Given the description of an element on the screen output the (x, y) to click on. 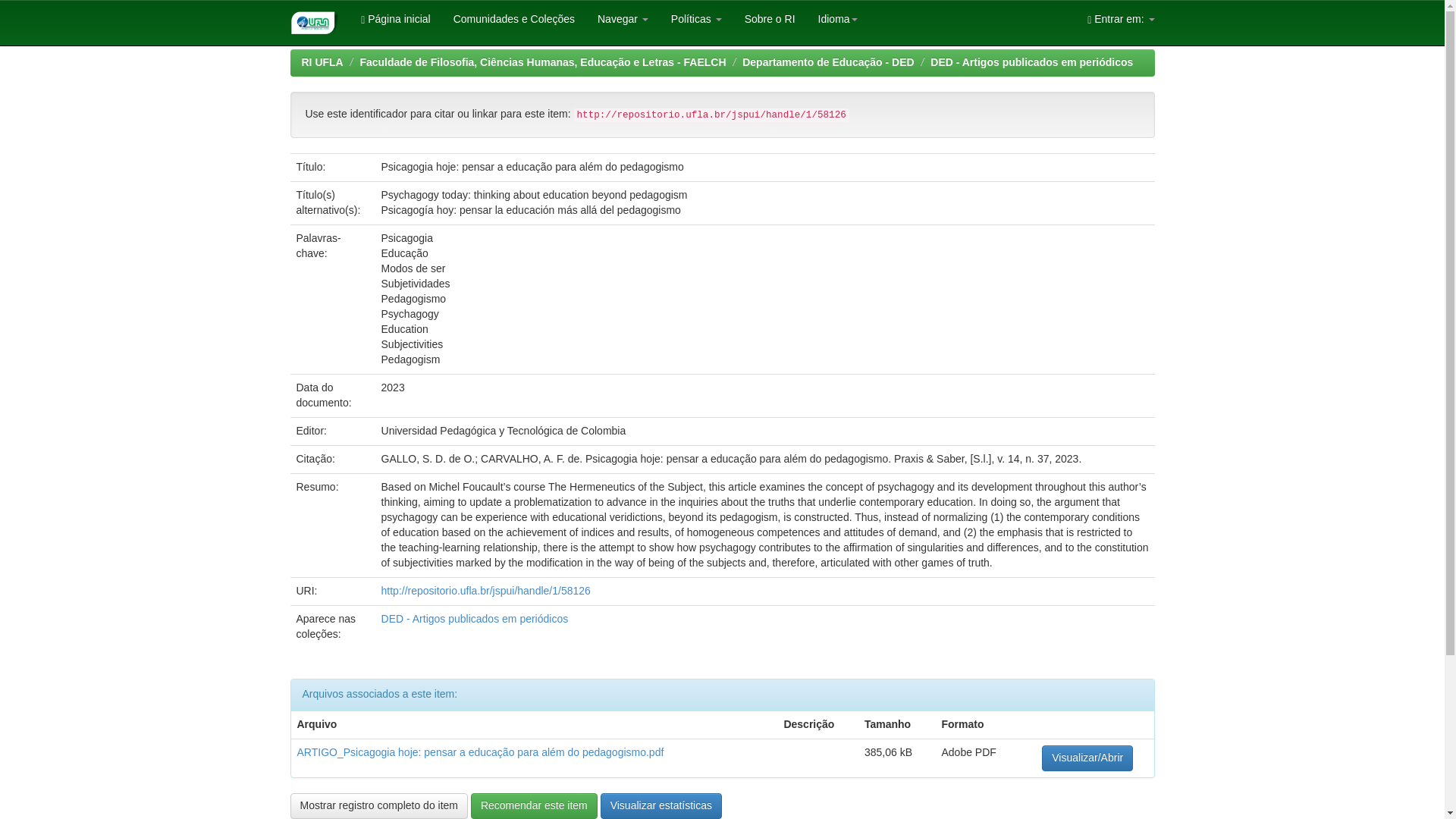
Recomendar este item (533, 806)
Mostrar registro completo do item (378, 806)
Navegar (622, 18)
Sobre o RI (769, 18)
Idioma (837, 18)
RI UFLA (322, 61)
Entrar em: (1120, 18)
